Given the description of an element on the screen output the (x, y) to click on. 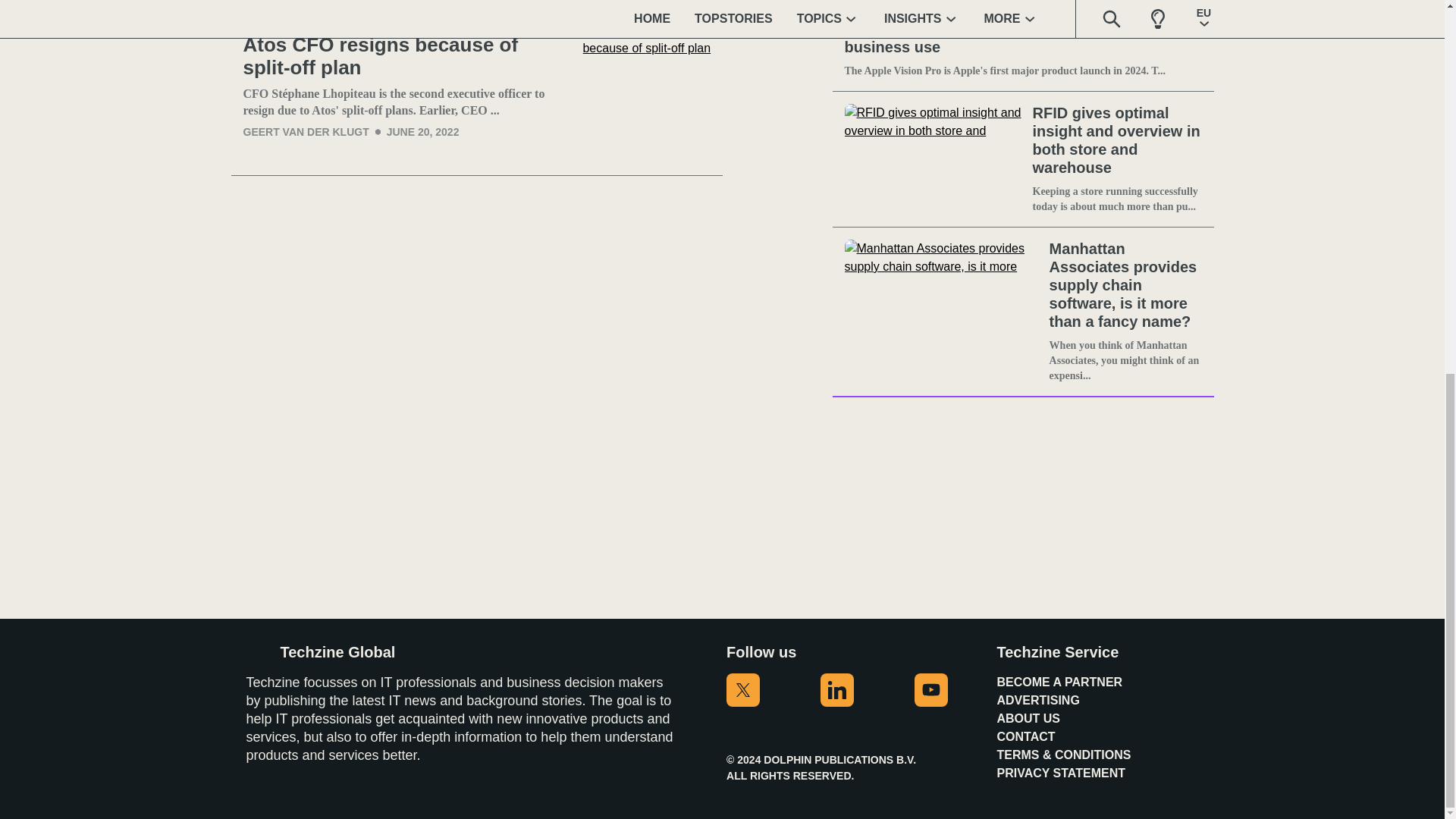
Atos CFO resigns because of split-off plan (406, 56)
Atos CFO resigns because of split-off plan (406, 56)
Atos CFO resigns because of split-off plan (652, 85)
